Given the description of an element on the screen output the (x, y) to click on. 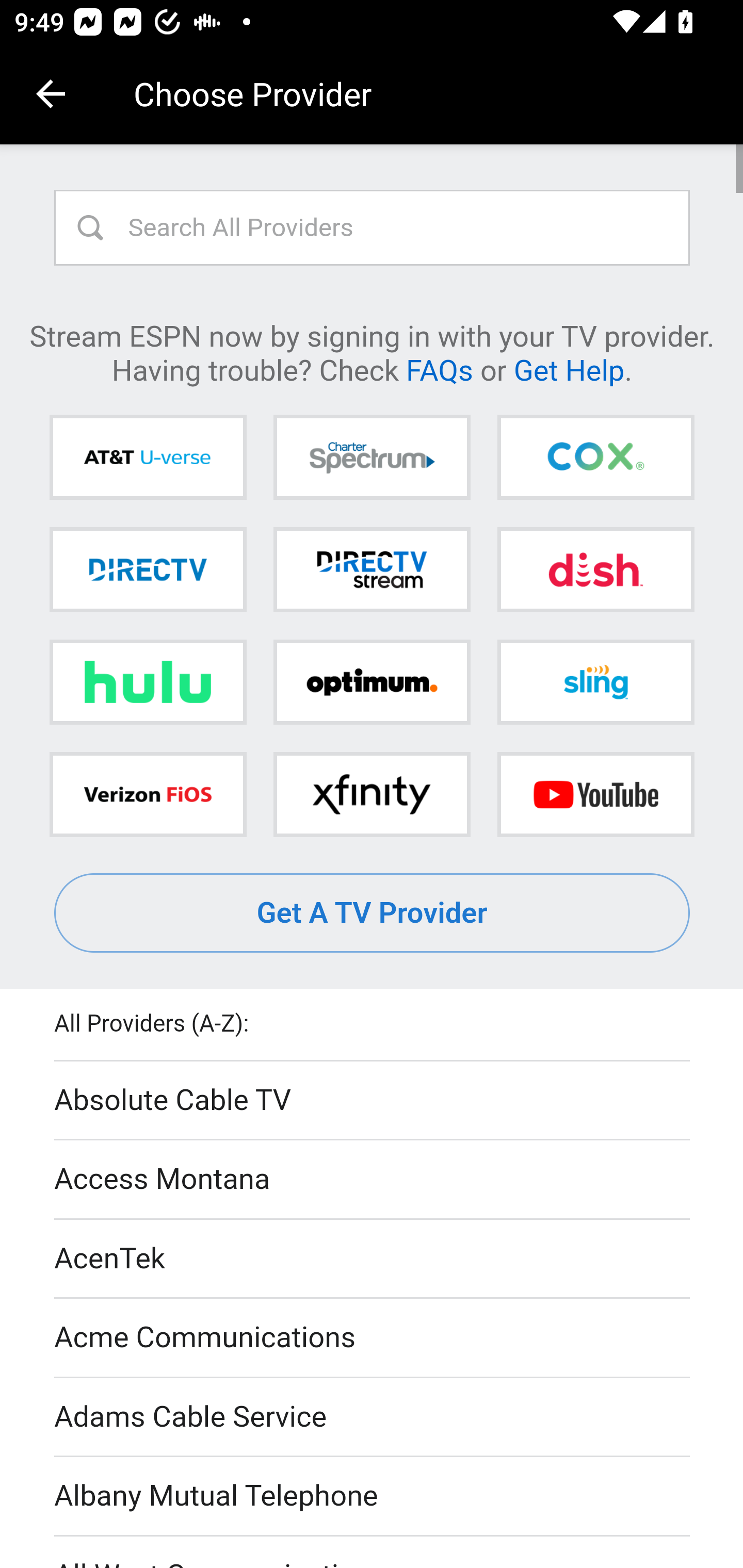
Navigate up (50, 93)
FAQs (438, 369)
Get Help (569, 369)
AT&T U-verse (147, 457)
Charter Spectrum (371, 457)
Cox (595, 457)
DIRECTV (147, 568)
DIRECTV STREAM (371, 568)
DISH (595, 568)
Hulu (147, 681)
Optimum (371, 681)
Sling TV (595, 681)
Verizon FiOS (147, 793)
Xfinity (371, 793)
YouTube TV (595, 793)
Get A TV Provider (372, 912)
Absolute Cable TV (372, 1100)
Access Montana (372, 1178)
AcenTek (372, 1258)
Acme Communications (372, 1338)
Adams Cable Service (372, 1417)
Albany Mutual Telephone (372, 1497)
